Given the description of an element on the screen output the (x, y) to click on. 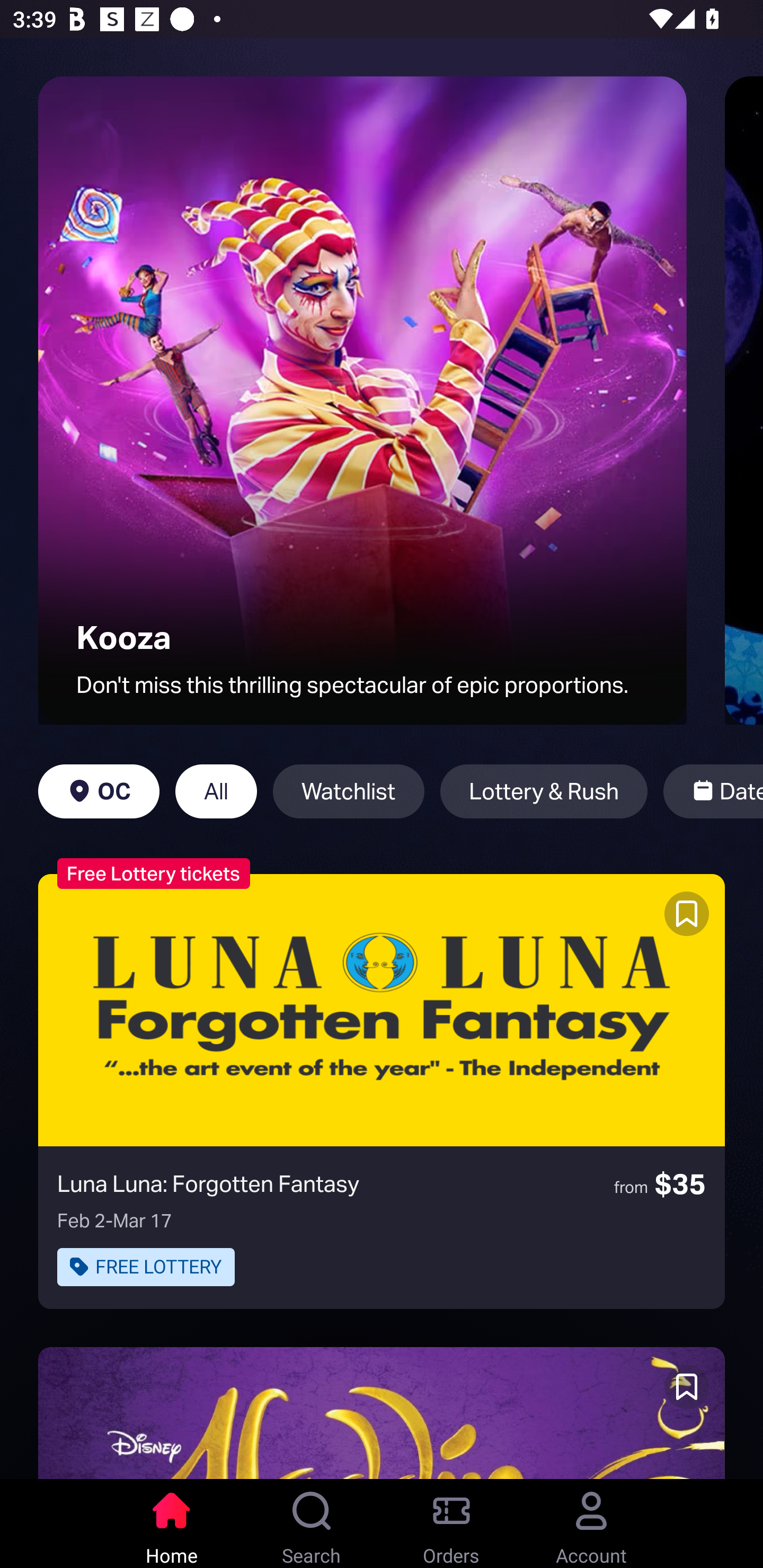
OC (98, 791)
All (216, 791)
Watchlist (348, 791)
Lottery & Rush (543, 791)
Search (311, 1523)
Orders (451, 1523)
Account (591, 1523)
